Given the description of an element on the screen output the (x, y) to click on. 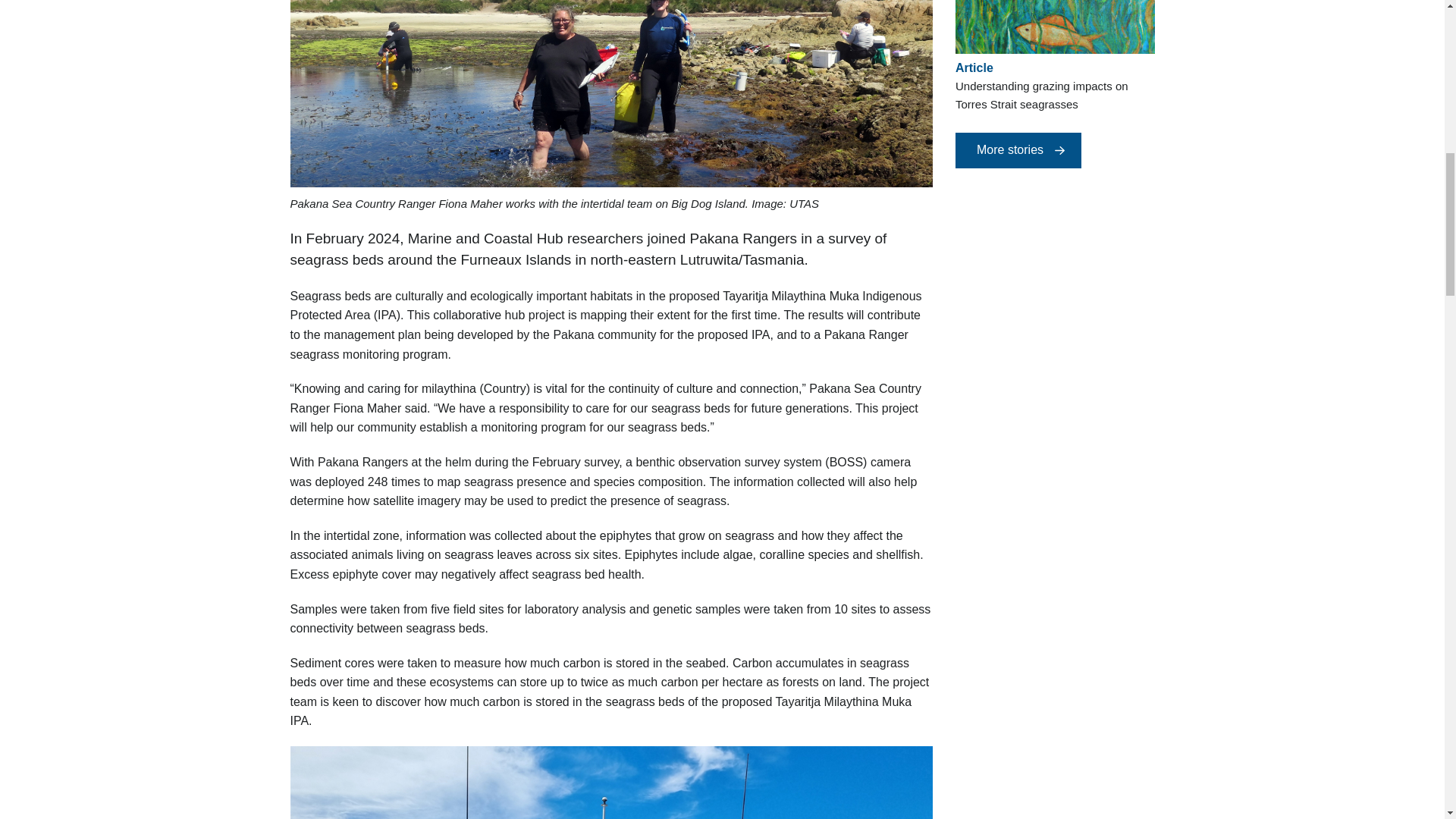
More stories (1018, 150)
